Given the description of an element on the screen output the (x, y) to click on. 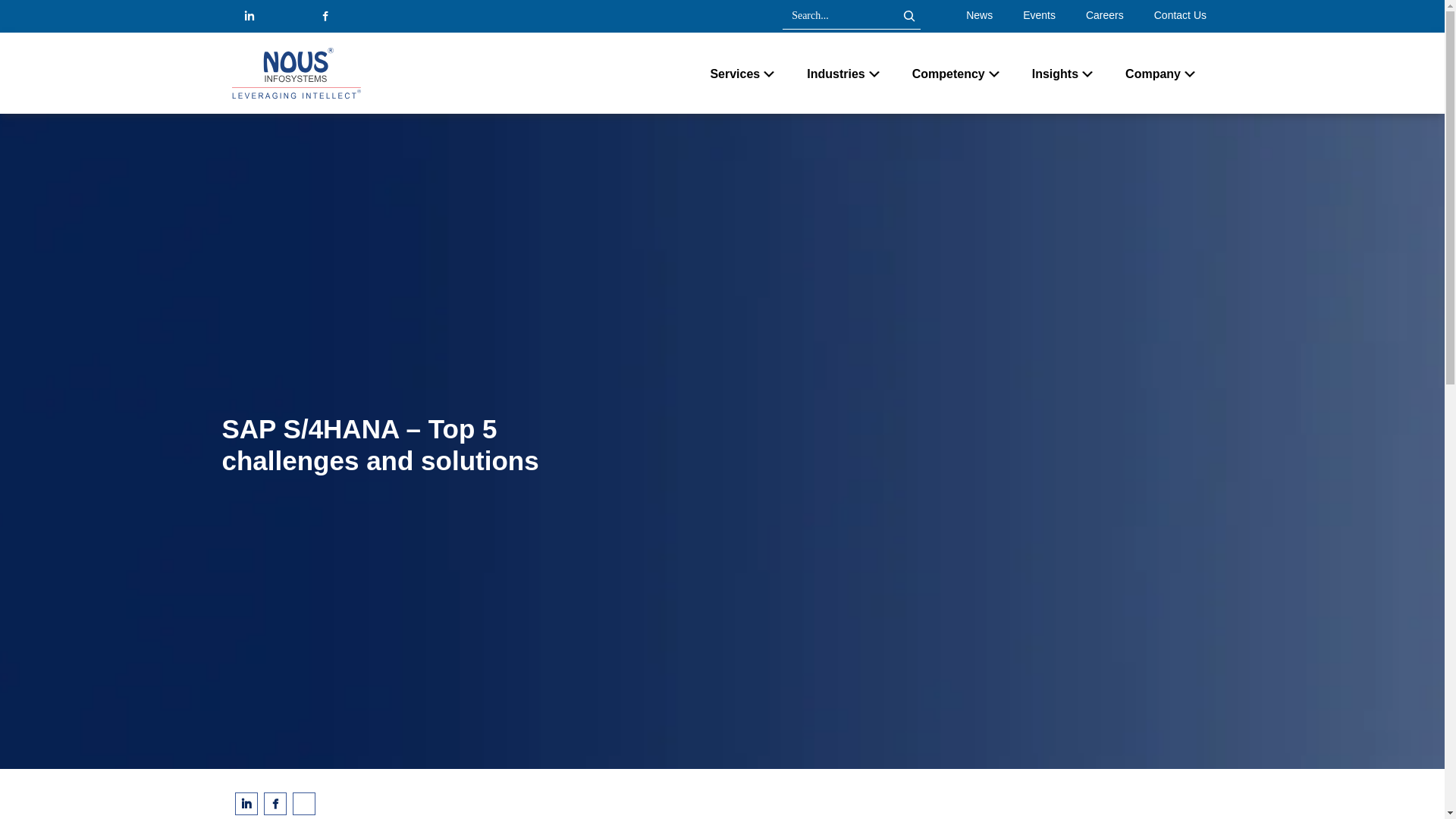
Contact Us (1179, 14)
Careers (1104, 14)
News (979, 14)
Events (1039, 14)
